Given the description of an element on the screen output the (x, y) to click on. 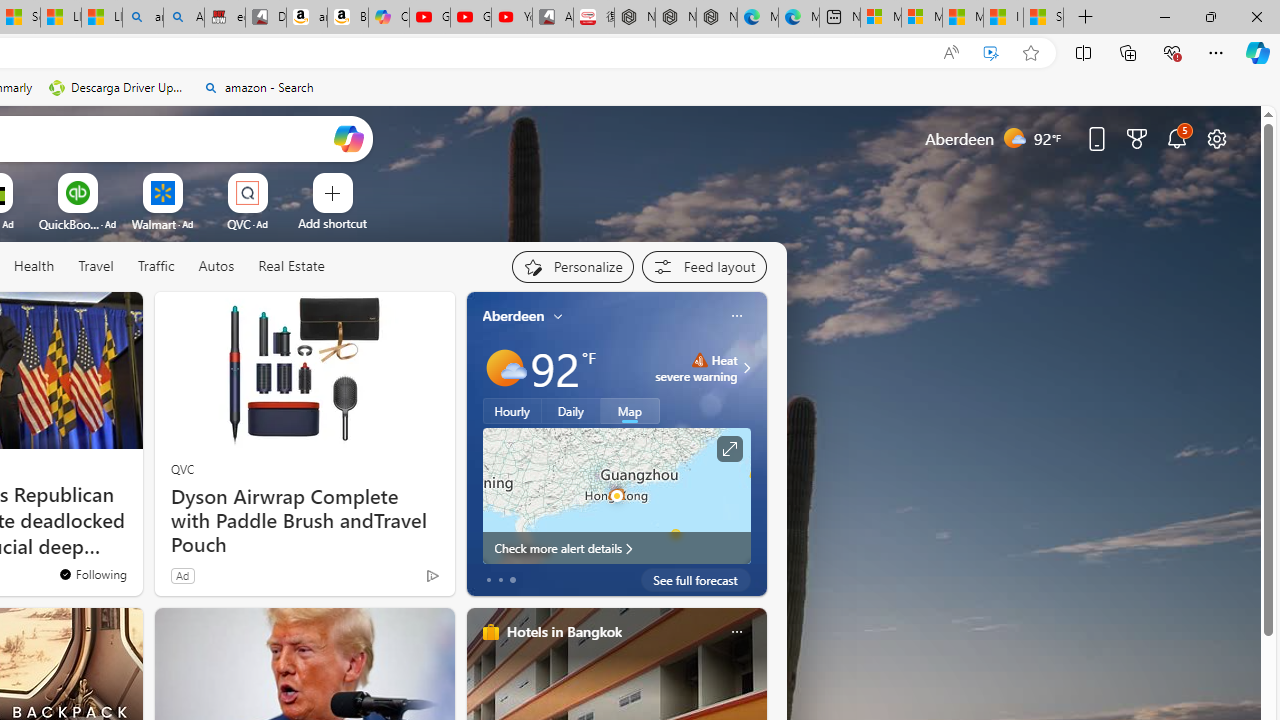
Hide this story (82, 315)
Traffic (155, 265)
Add this page to favorites (Ctrl+D) (1030, 53)
All Cubot phones (552, 17)
Open Copilot (347, 138)
hotels-header-icon (490, 632)
You're following FOX News (92, 573)
tab-2 (511, 579)
See more (118, 315)
Open Copilot (347, 138)
Travel (95, 267)
Read aloud this page (Ctrl+Shift+U) (950, 53)
Aberdeen (513, 315)
